Given the description of an element on the screen output the (x, y) to click on. 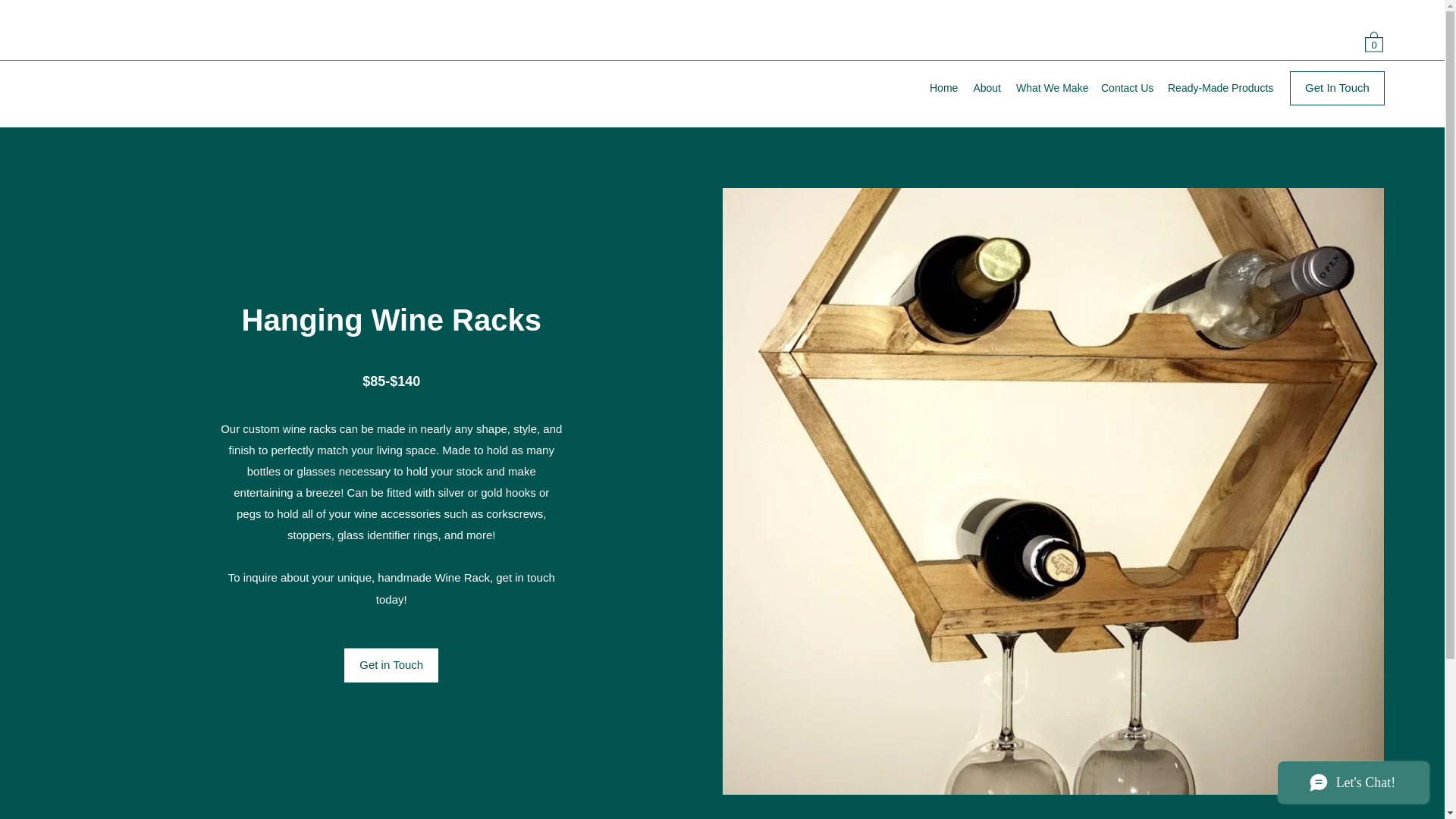
Contact Us (1126, 87)
About (987, 87)
Get In Touch (1337, 88)
Ready-Made Products (1219, 87)
Get in Touch (390, 665)
Home (943, 87)
What We Make (1051, 87)
